Given the description of an element on the screen output the (x, y) to click on. 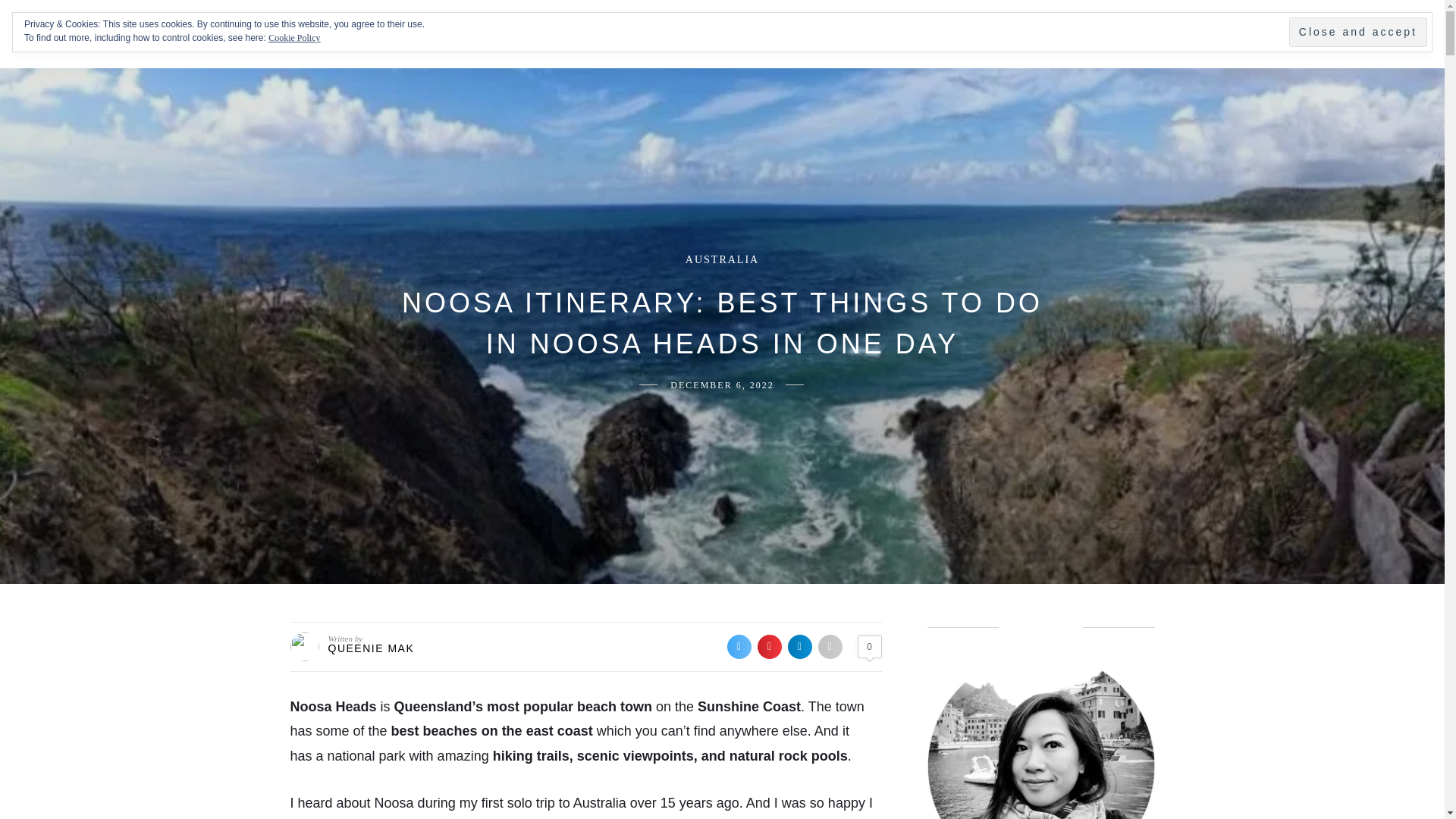
ABOUT ME (532, 34)
DESTINATIONS (654, 34)
Posts by queenie mak (370, 648)
Close and accept (1357, 31)
ms travel solo (121, 33)
